Given the description of an element on the screen output the (x, y) to click on. 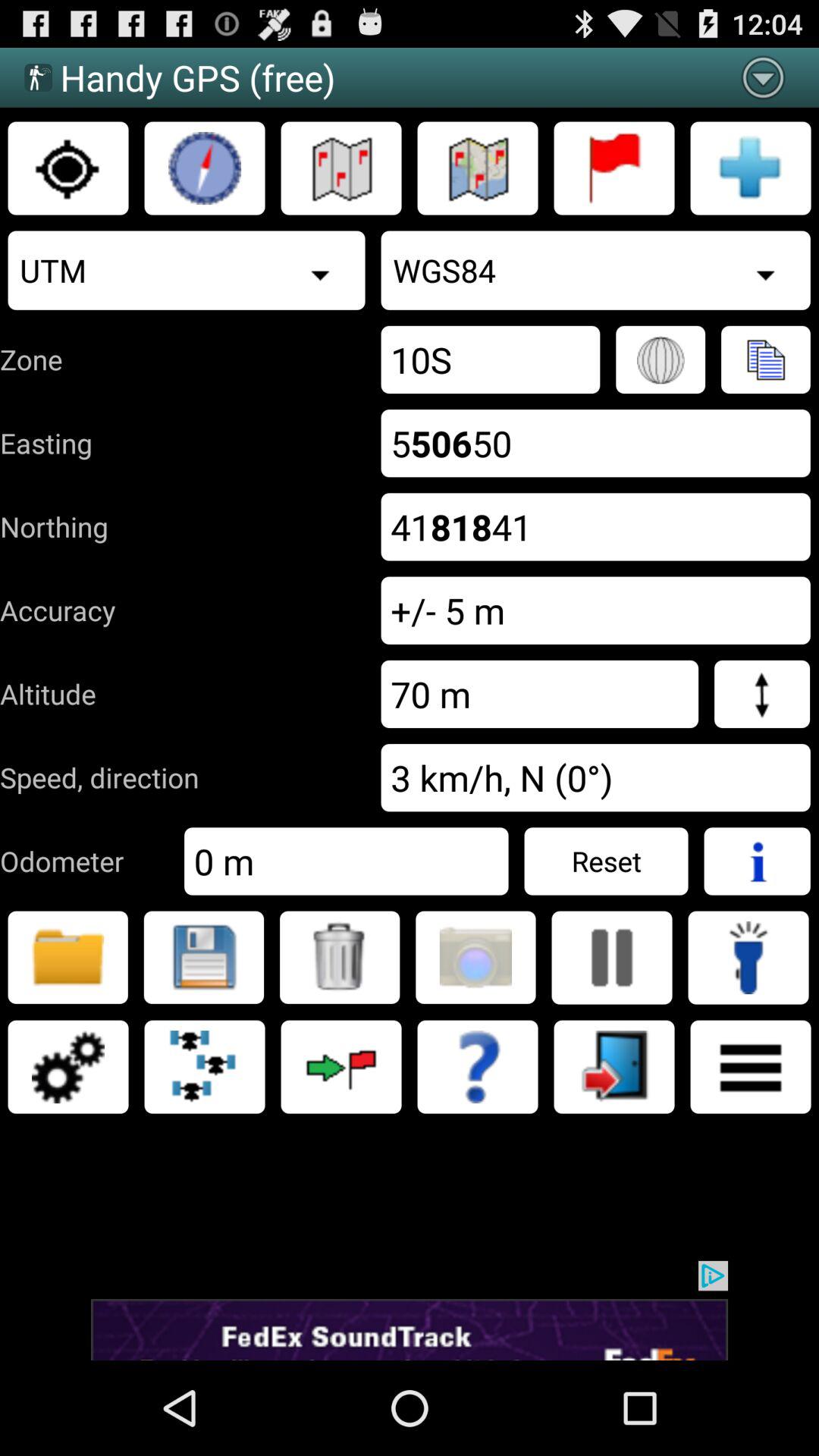
delete (339, 957)
